Given the description of an element on the screen output the (x, y) to click on. 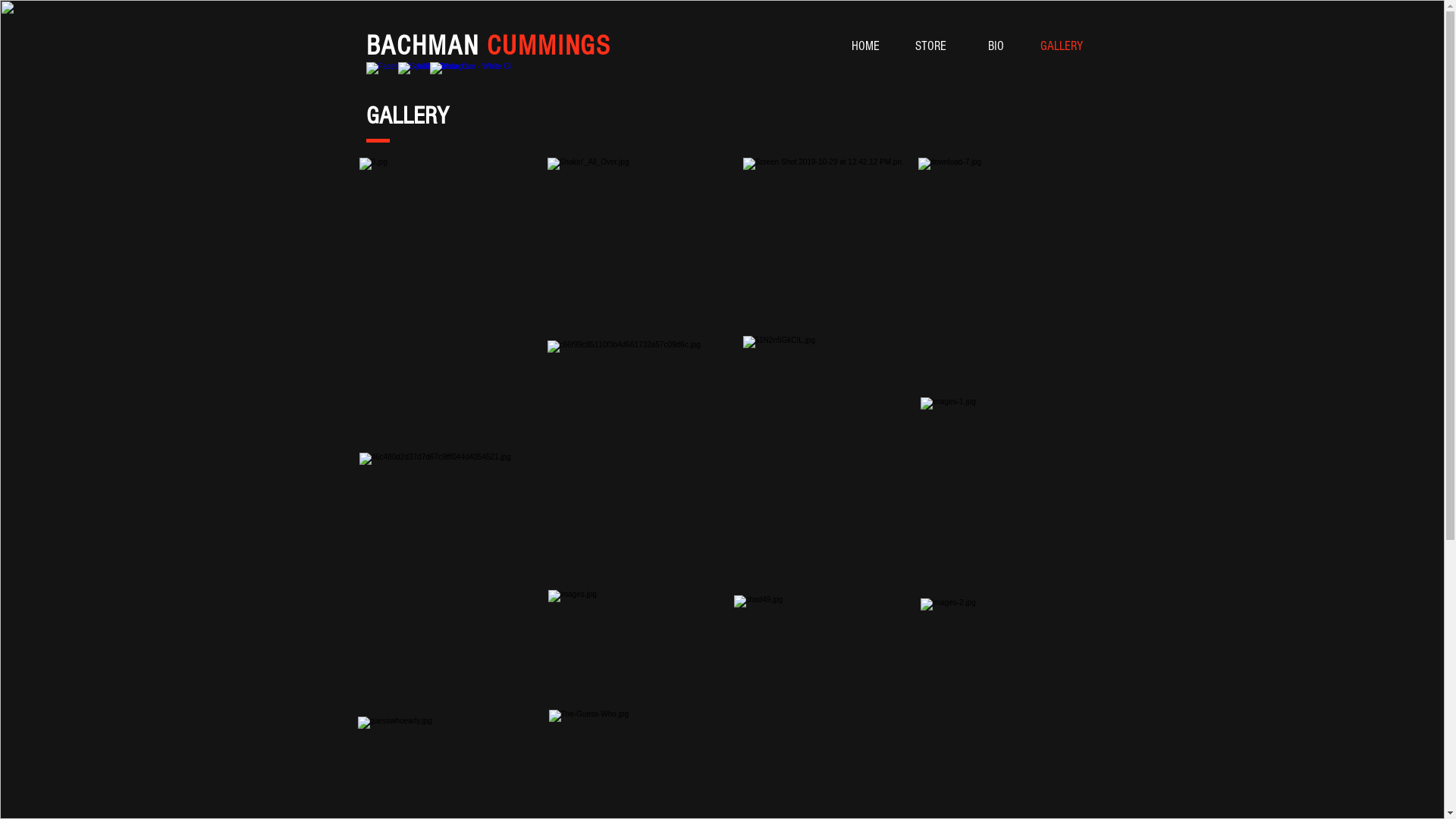
GALLERY Element type: text (1060, 46)
BIO Element type: text (995, 46)
STORE Element type: text (930, 46)
HOME Element type: text (864, 46)
BACHMAN CUMMINGS Element type: text (488, 46)
